Given the description of an element on the screen output the (x, y) to click on. 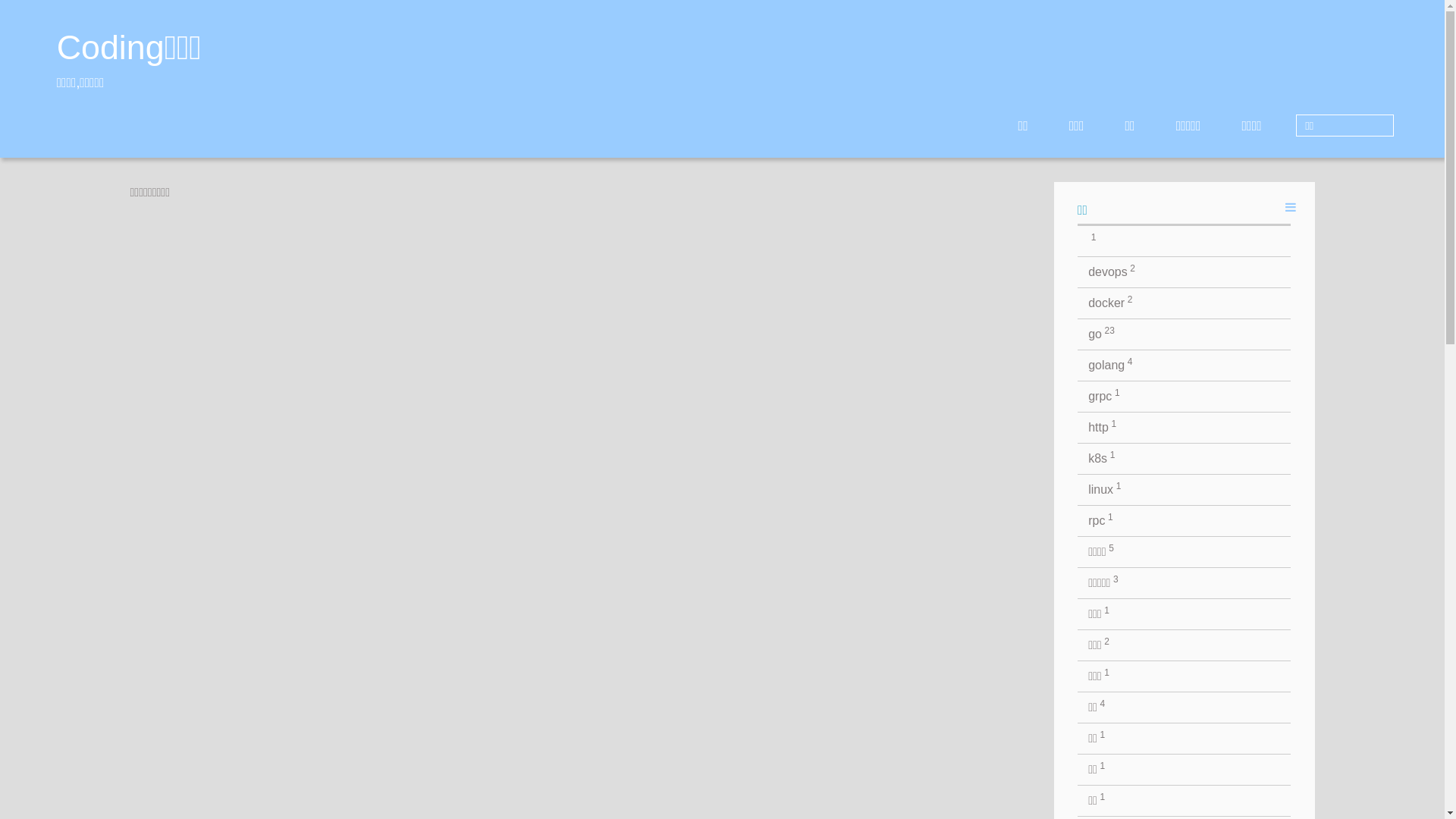
linux1 Element type: text (1183, 489)
docker2 Element type: text (1183, 303)
golang4 Element type: text (1183, 365)
devops2 Element type: text (1183, 272)
1 Element type: text (1183, 240)
http1 Element type: text (1183, 427)
grpc1 Element type: text (1183, 396)
k8s1 Element type: text (1183, 458)
rpc1 Element type: text (1183, 520)
go23 Element type: text (1183, 334)
